Given the description of an element on the screen output the (x, y) to click on. 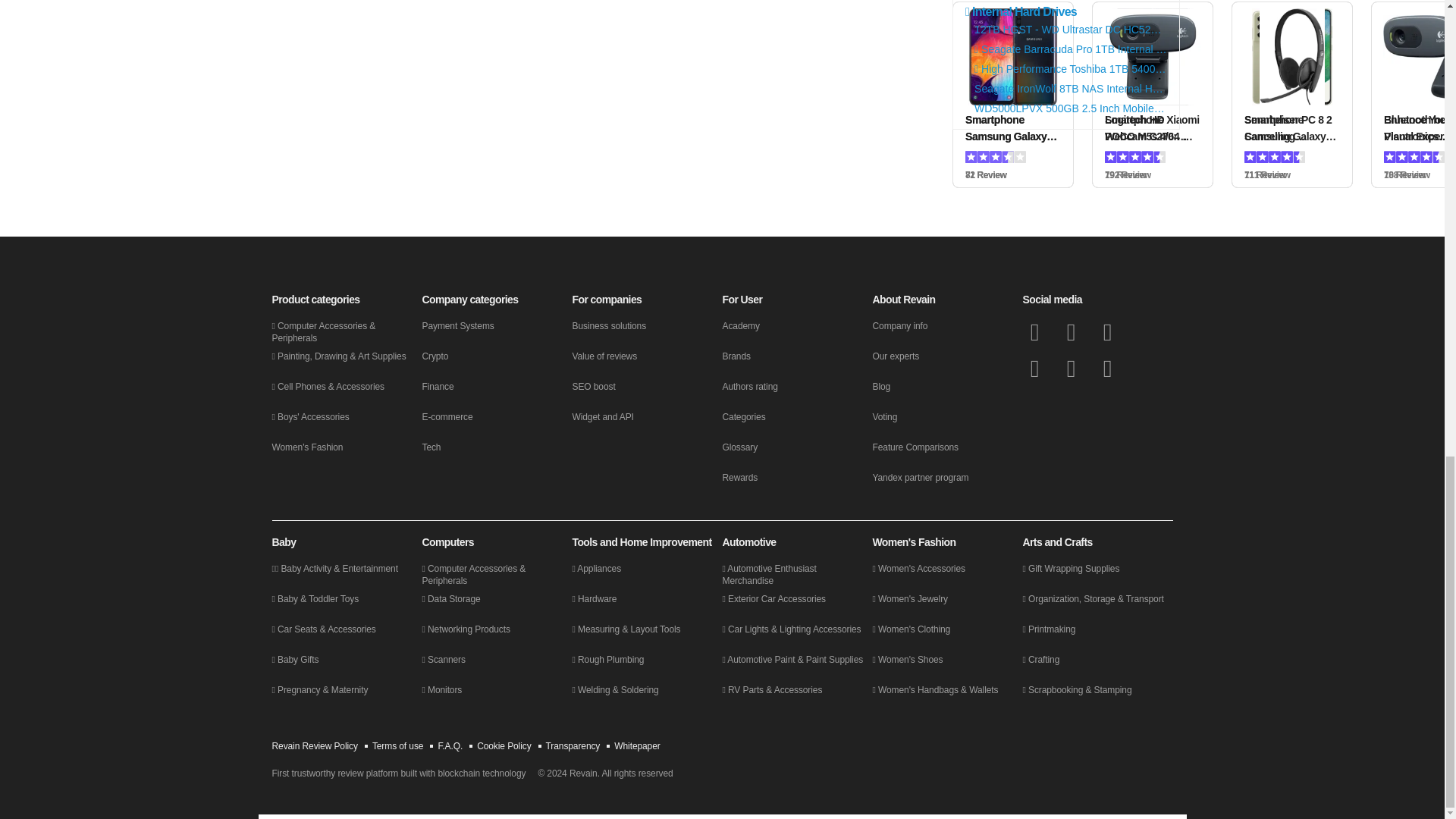
Revain Telegram group (1106, 331)
Revain Twitter (1070, 331)
Revain Instagram (1070, 368)
Revain Facebook (1034, 331)
Revain Pinterest (1106, 368)
Revain Telegram channel (1034, 368)
